Given the description of an element on the screen output the (x, y) to click on. 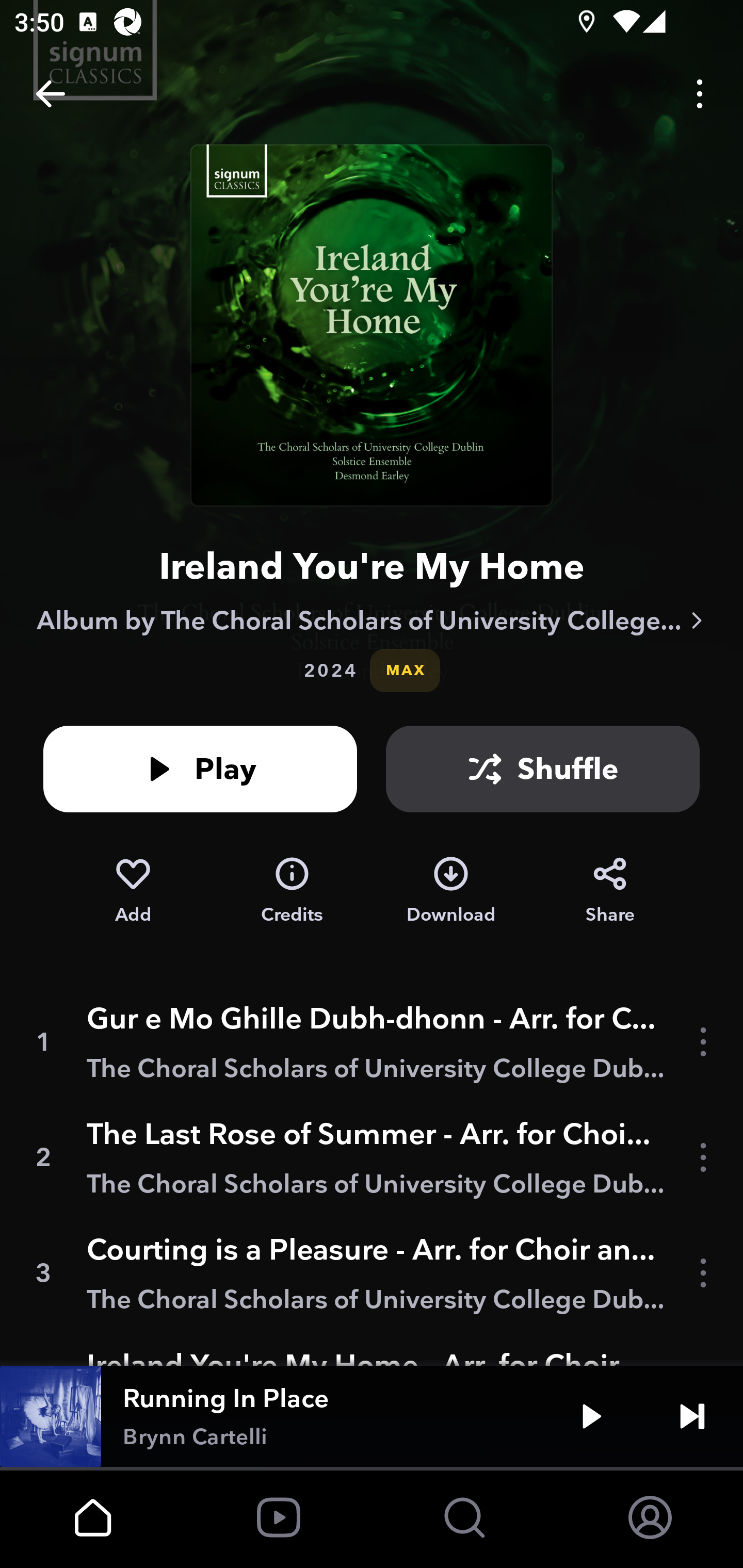
Options (699, 93)
Ireland You're My Home (371, 565)
Play (200, 768)
Shuffle (542, 768)
Add to My Collection Add (132, 890)
Credits (291, 890)
Download (450, 890)
Share (609, 890)
Running In Place Brynn Cartelli Play (371, 1416)
Play (590, 1416)
